Given the description of an element on the screen output the (x, y) to click on. 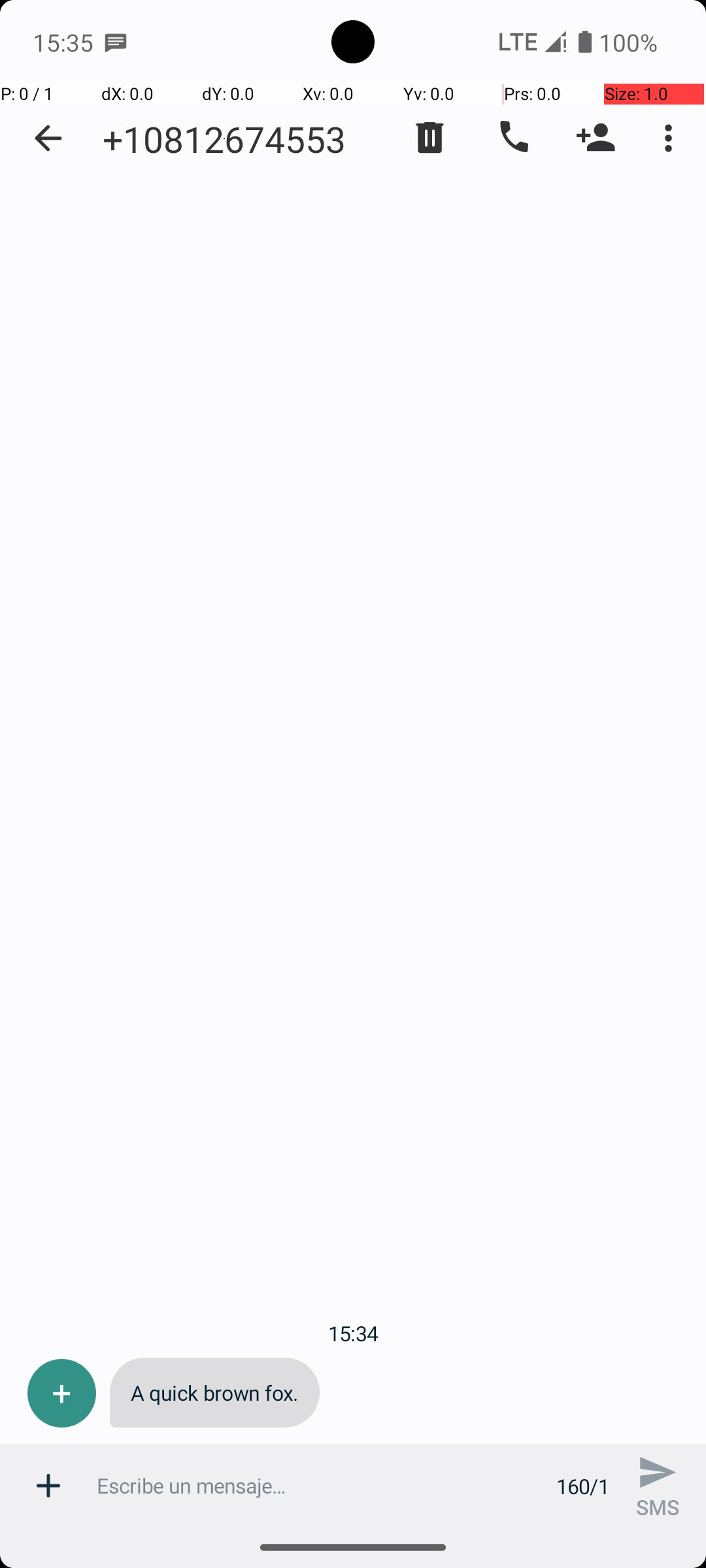
Atrás Element type: android.widget.ImageButton (48, 138)
+10812674553 Element type: android.widget.TextView (223, 138)
Eliminar Element type: android.widget.Button (429, 137)
Marcar número Element type: android.widget.Button (512, 137)
Añadir persona Element type: android.widget.Button (595, 137)
Archivo adjunto Element type: android.widget.ImageView (48, 1485)
Escribe un mensaje… Element type: android.widget.EditText (318, 1485)
160/1 Element type: android.widget.TextView (582, 1485)
A quick brown fox. Element type: android.widget.TextView (214, 1392)
